Given the description of an element on the screen output the (x, y) to click on. 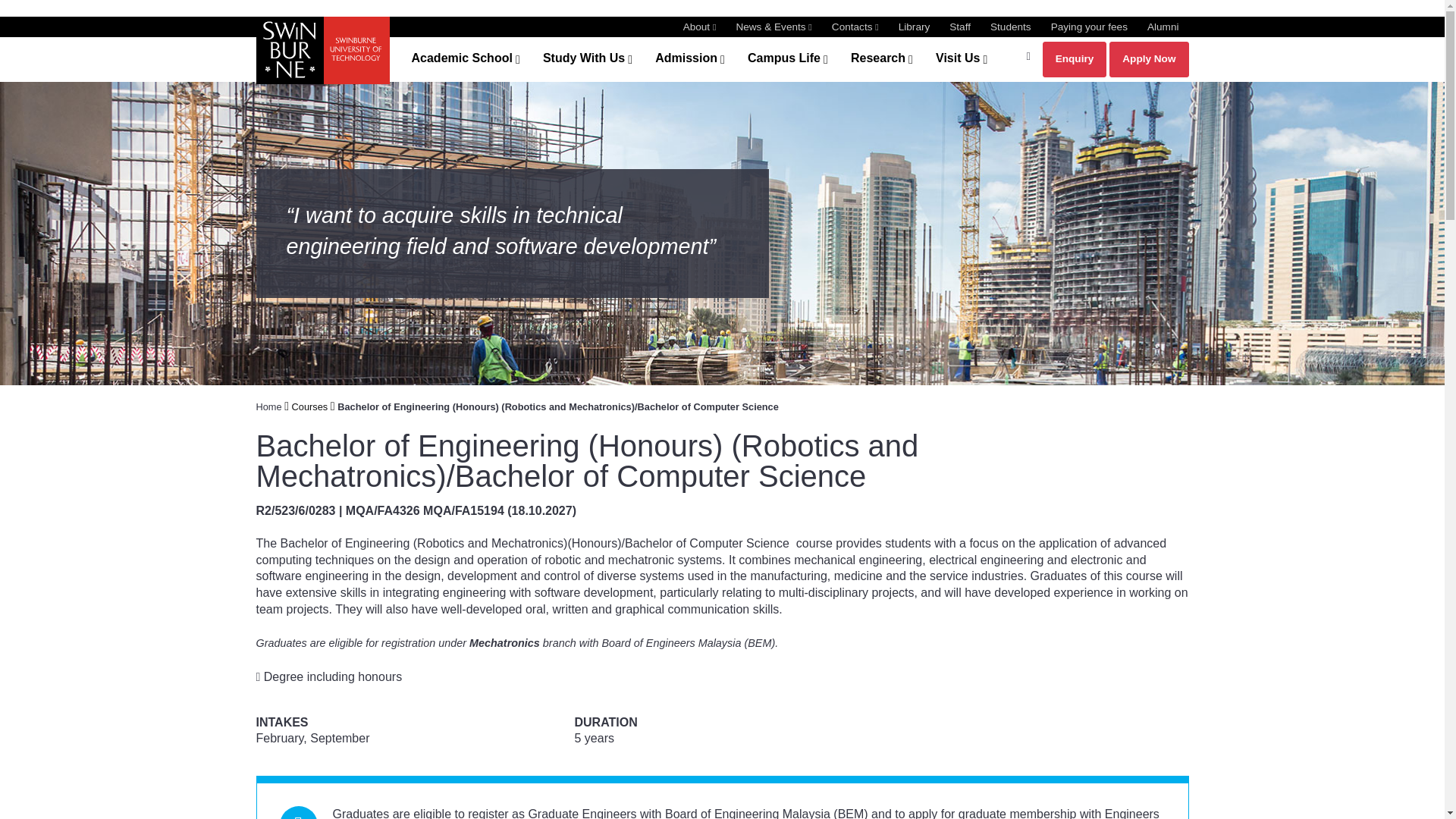
Library (914, 26)
Study With Us (583, 58)
Paying your fees (1089, 26)
Staff (959, 26)
Academic School (461, 58)
Alumni (1163, 26)
About (699, 26)
Contacts (855, 26)
Students (1010, 26)
